Given the description of an element on the screen output the (x, y) to click on. 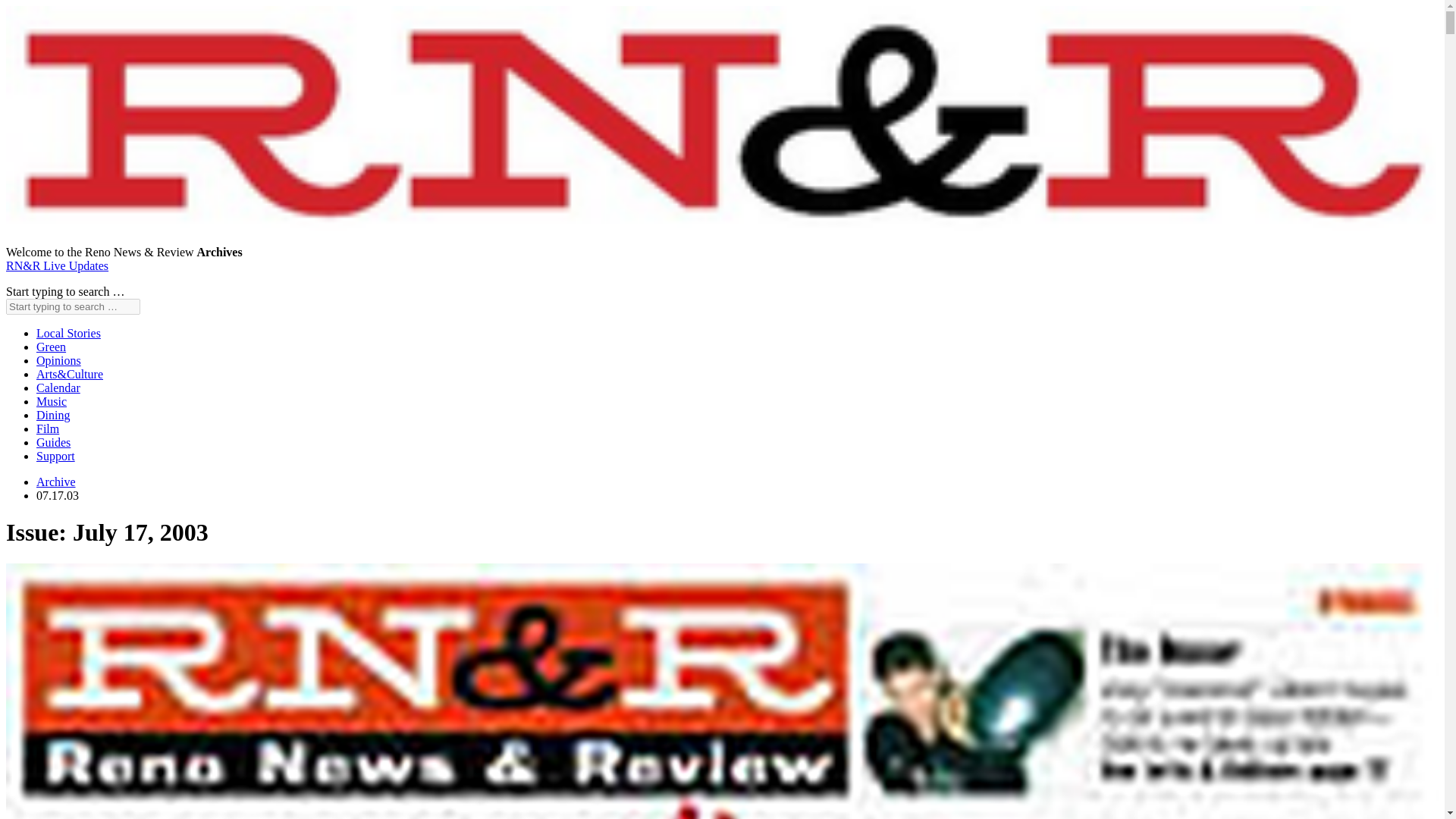
Local Stories (68, 332)
Archive (55, 481)
Support (55, 455)
Calendar (58, 387)
Music (51, 400)
Opinions (58, 359)
Green (50, 346)
Dining (52, 414)
Film (47, 428)
Guides (52, 441)
